Given the description of an element on the screen output the (x, y) to click on. 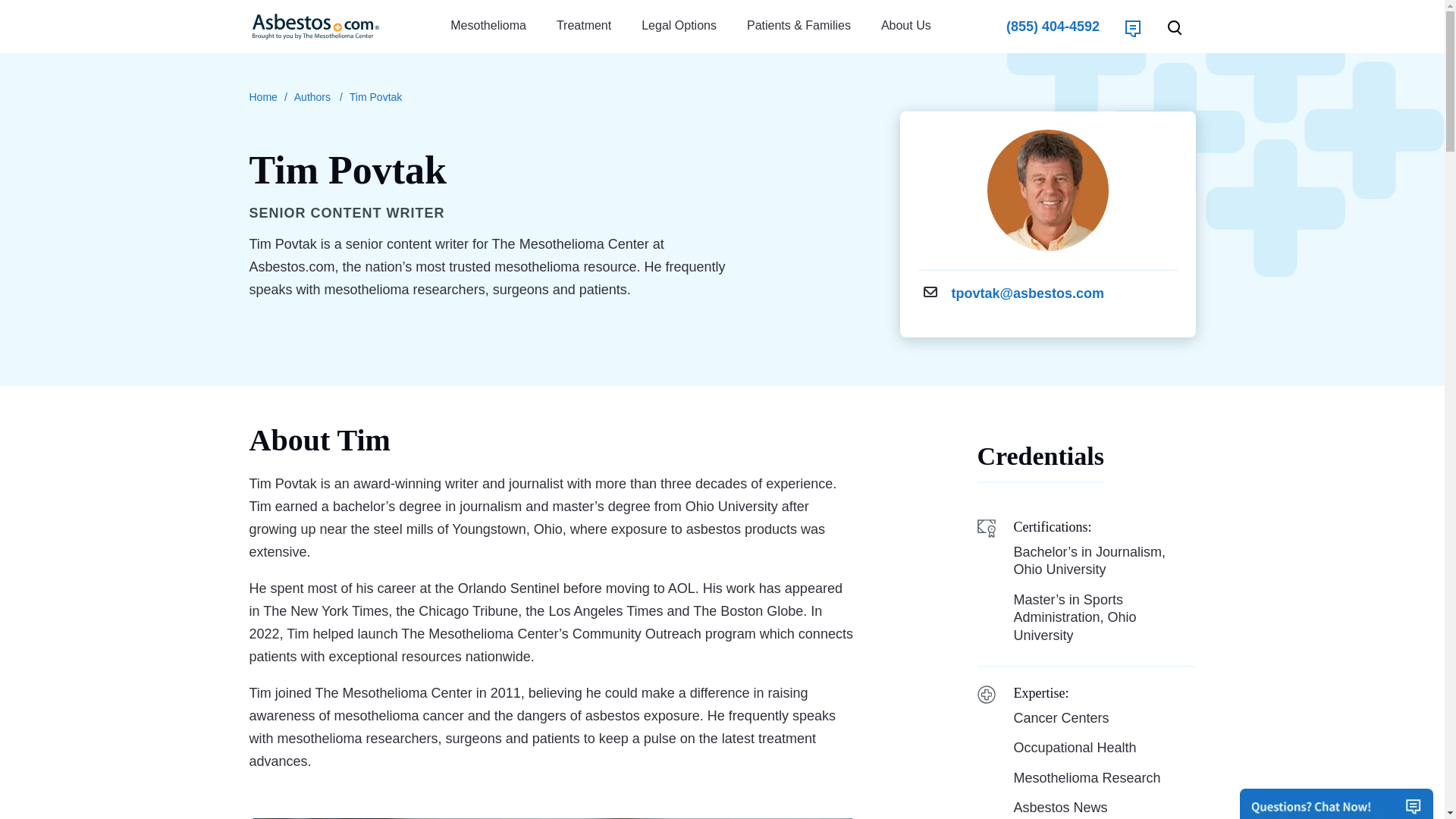
Treatment (583, 25)
Mesothelioma Center (262, 96)
Mesothelioma (487, 25)
